Given the description of an element on the screen output the (x, y) to click on. 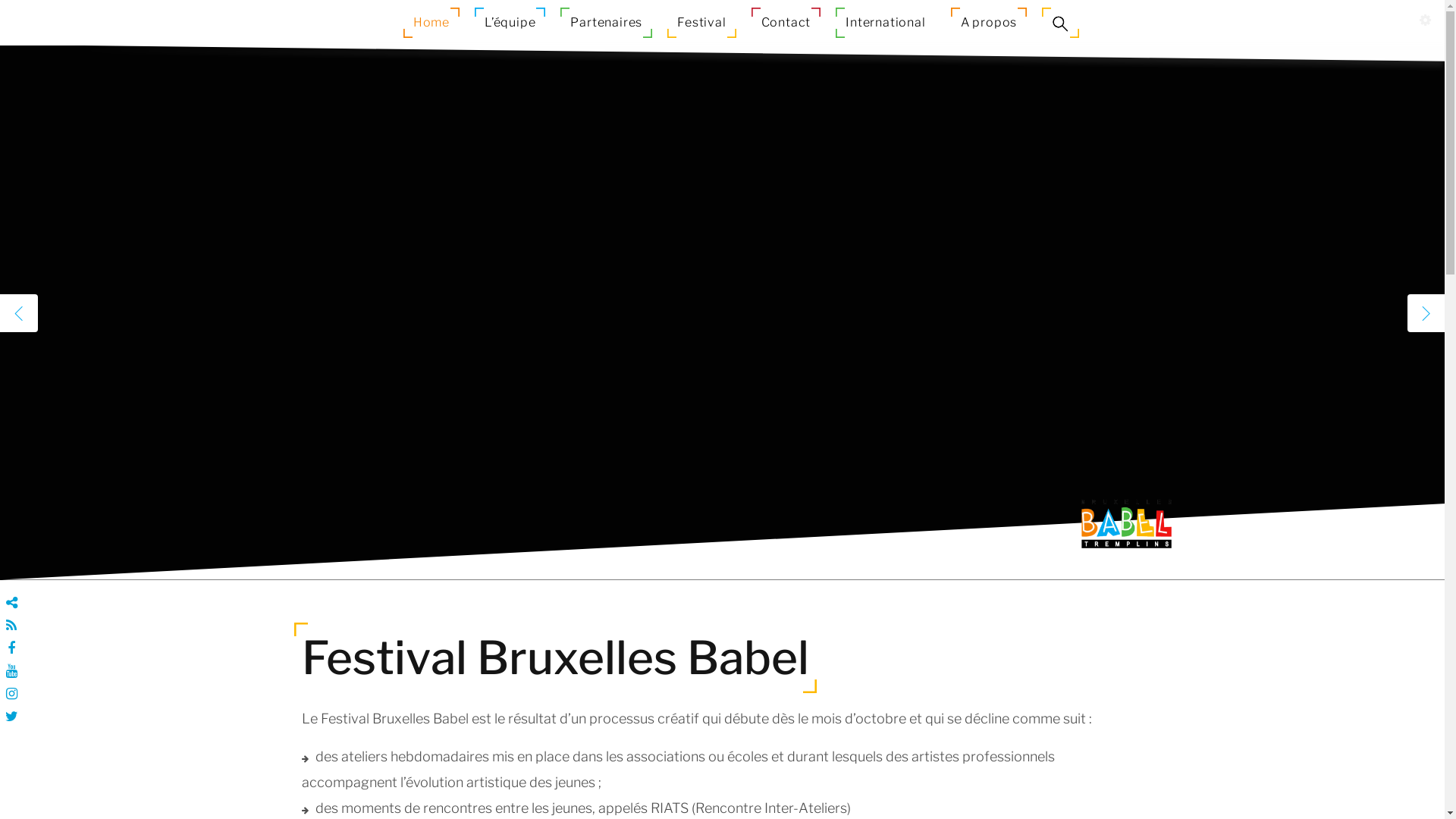
Partenaires Element type: text (606, 22)
Partager notre site avec le monde! Element type: hover (11, 602)
International Element type: text (885, 22)
 Twitter Element type: hover (11, 716)
 Facebook Element type: hover (11, 648)
Festival Element type: text (701, 22)
 Instagram Element type: hover (11, 693)
 RSS Element type: hover (11, 625)
 YouTube Element type: hover (11, 670)
Home Element type: text (431, 22)
Contact Element type: text (786, 22)
A propos Element type: text (988, 22)
